Given the description of an element on the screen output the (x, y) to click on. 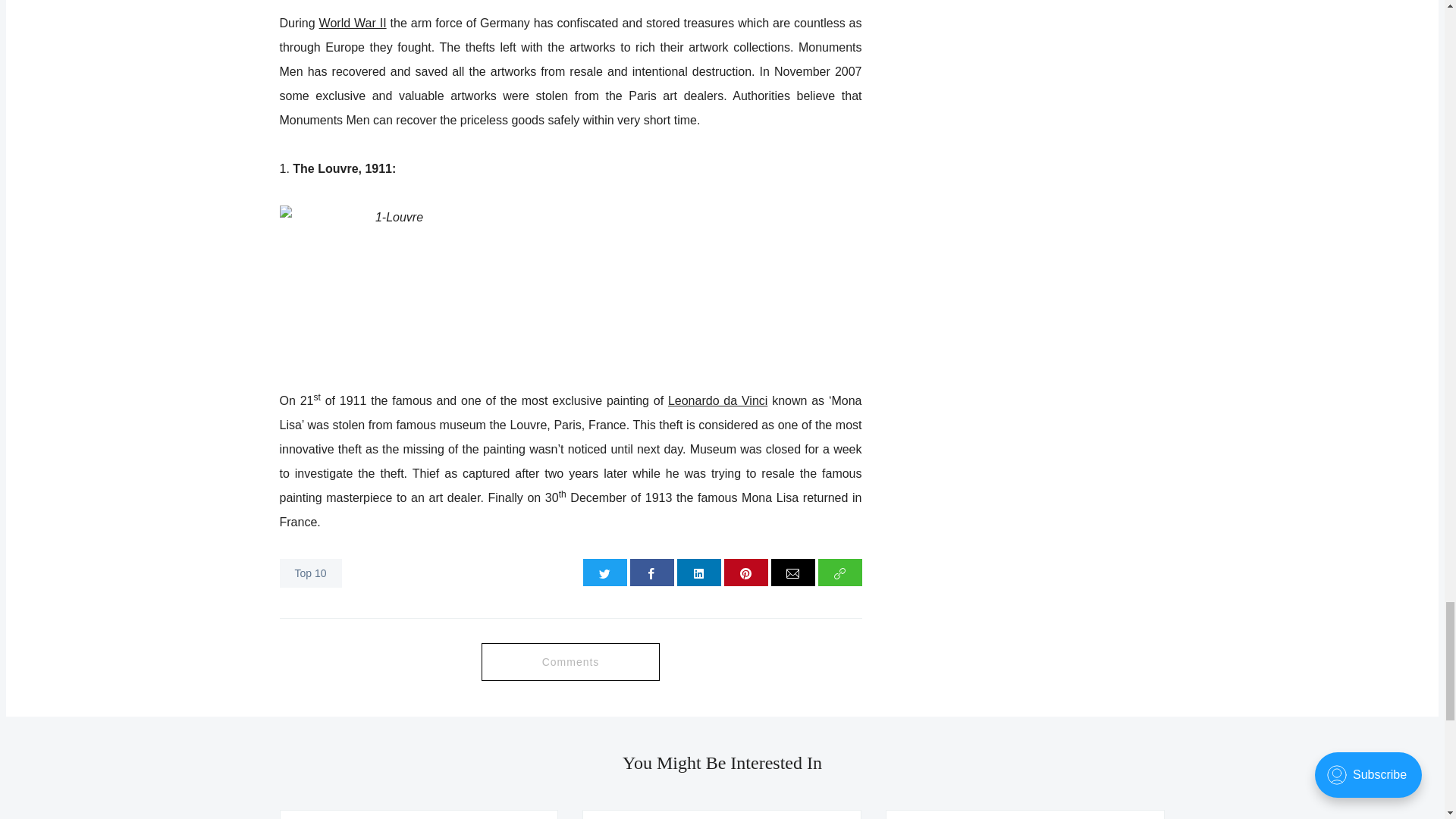
Share on Pinterest (745, 572)
World War II (352, 22)
Leonardo da Vinci (717, 400)
Top 10 (309, 573)
Comments (570, 661)
Share via Email (793, 572)
Share on Twitter (605, 572)
Copy link (839, 572)
Share on Facebook (652, 572)
Share on LinkedIn (698, 572)
